Given the description of an element on the screen output the (x, y) to click on. 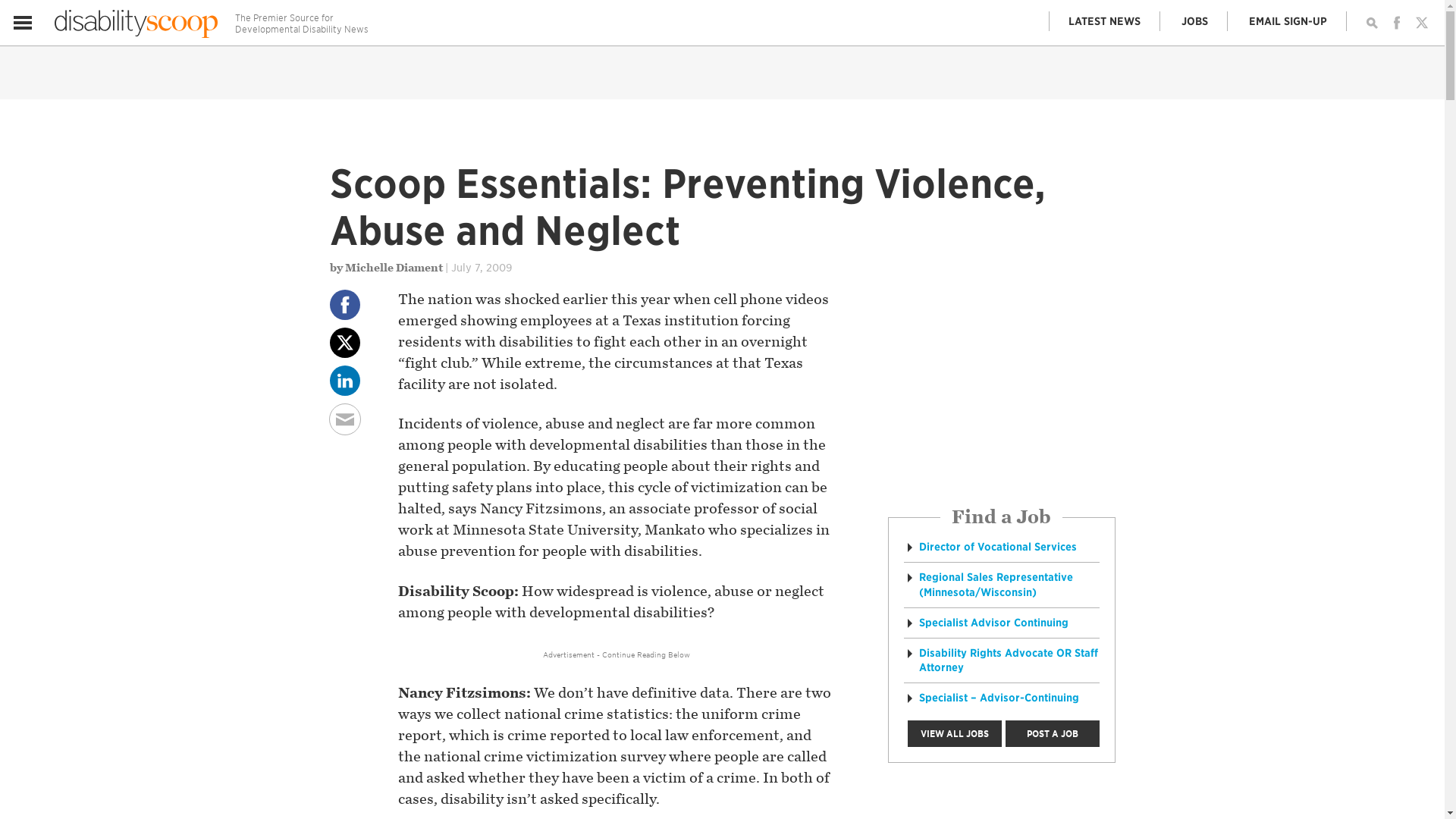
LATEST NEWS (1104, 21)
Twitter (1421, 22)
JOBS (1194, 21)
Menu (22, 22)
Search (1371, 22)
Facebook (1396, 22)
EMAIL SIGN-UP (1288, 21)
